Given the description of an element on the screen output the (x, y) to click on. 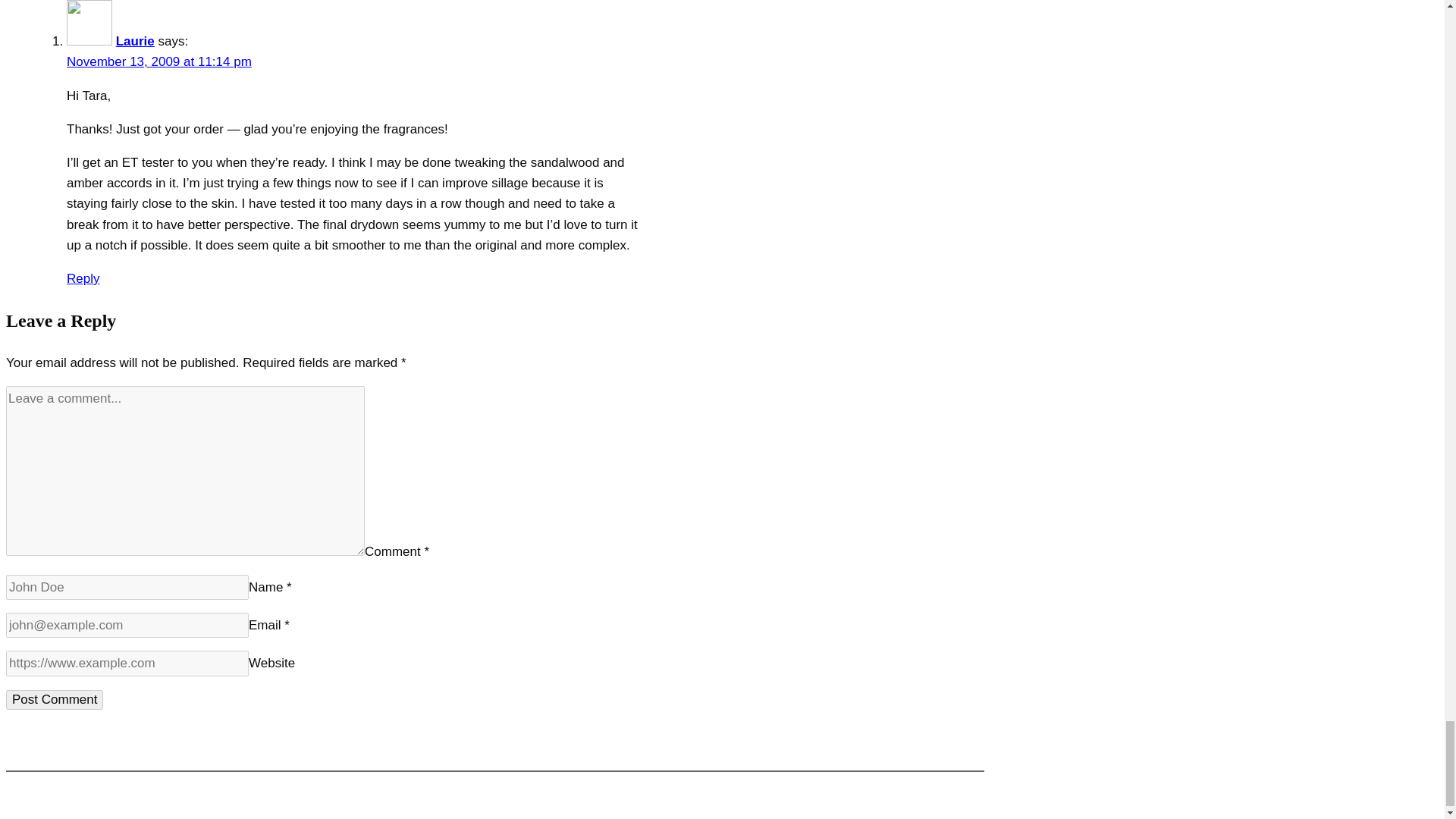
Post Comment (54, 700)
